Given the description of an element on the screen output the (x, y) to click on. 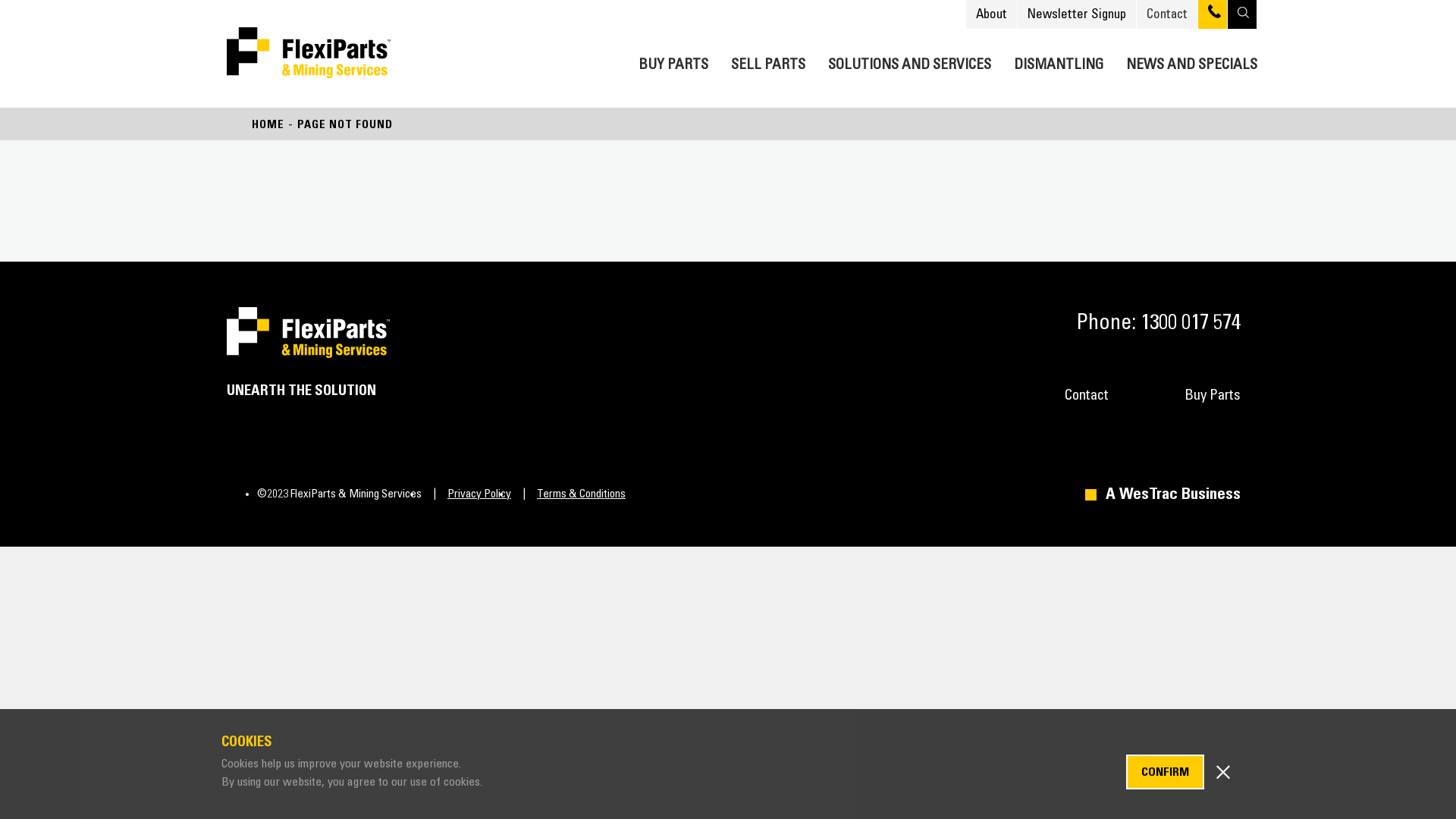
NEWS AND SPECIALS Element type: text (1191, 61)
PAGE NOT FOUND Element type: text (344, 124)
SELL PARTS Element type: text (768, 61)
Contact Element type: text (1086, 395)
About Element type: text (991, 13)
Phone: 1300 017 574 Element type: text (1152, 322)
Privacy Policy Element type: text (466, 493)
Terms & Conditions Element type: text (568, 493)
CONFIRM Element type: text (1165, 771)
HOME Element type: text (267, 124)
SOLUTIONS AND SERVICES Element type: text (909, 61)
DISMANTLING Element type: text (1058, 61)
BUY PARTS Element type: text (673, 61)
Contact Element type: text (1166, 13)
Newsletter Signup Element type: text (1076, 13)
Buy Parts Element type: text (1212, 395)
X Element type: text (1222, 770)
